Given the description of an element on the screen output the (x, y) to click on. 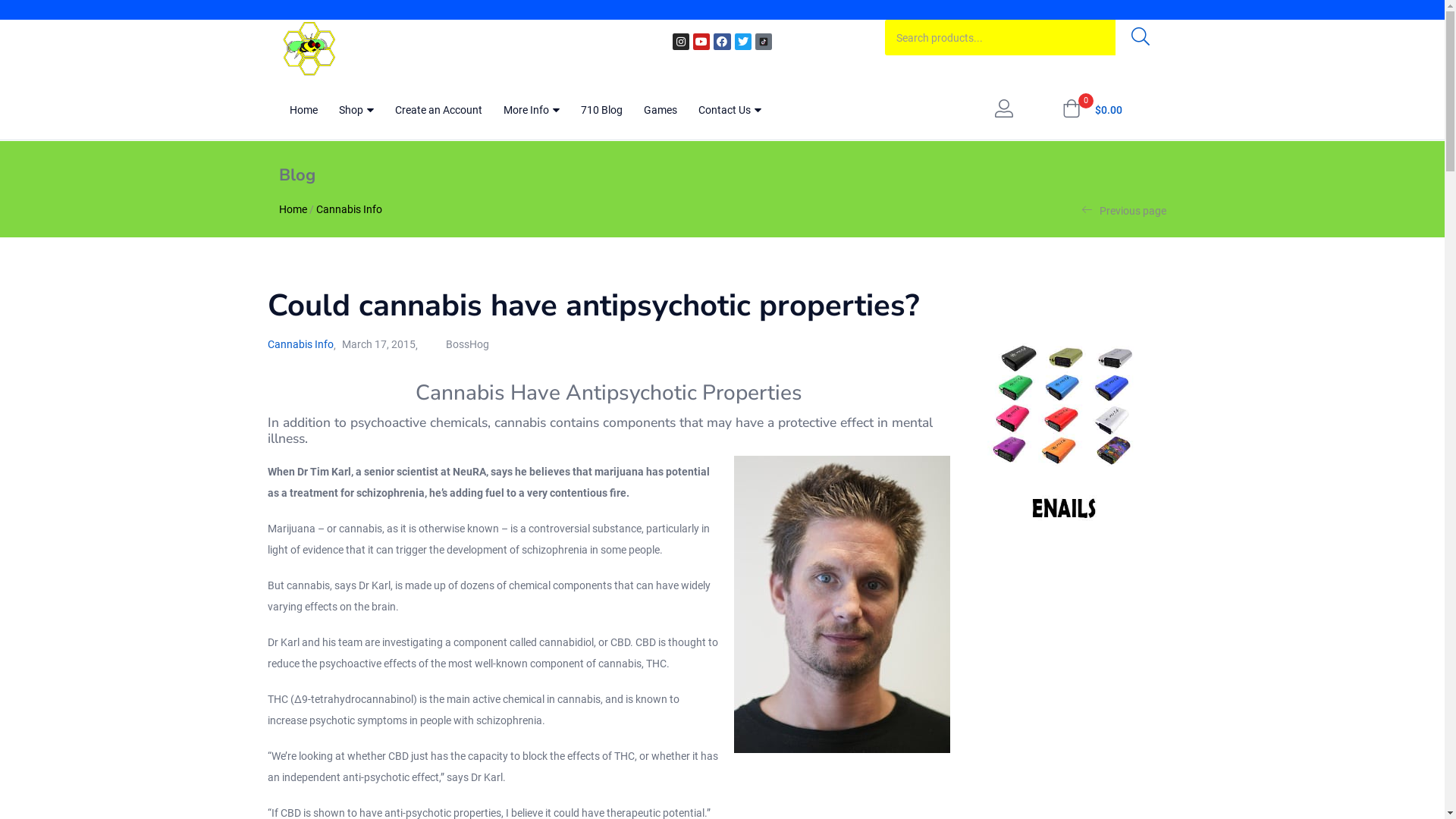
BossHog Element type: text (467, 344)
Cannabis Info Element type: text (299, 344)
710 Blog Element type: text (601, 109)
March 17, 2015 Element type: text (377, 344)
Home Element type: text (303, 109)
More Info Element type: text (531, 109)
Cannabis Info Element type: text (348, 209)
Games Element type: text (659, 109)
Home Element type: text (293, 209)
Shop Element type: text (355, 109)
Previous page Element type: text (1123, 209)
Contact Us Element type: text (729, 109)
Create an Account Element type: text (437, 109)
0
$0.00 Element type: text (1092, 109)
pixel Element type: hover (721, 10)
